Given the description of an element on the screen output the (x, y) to click on. 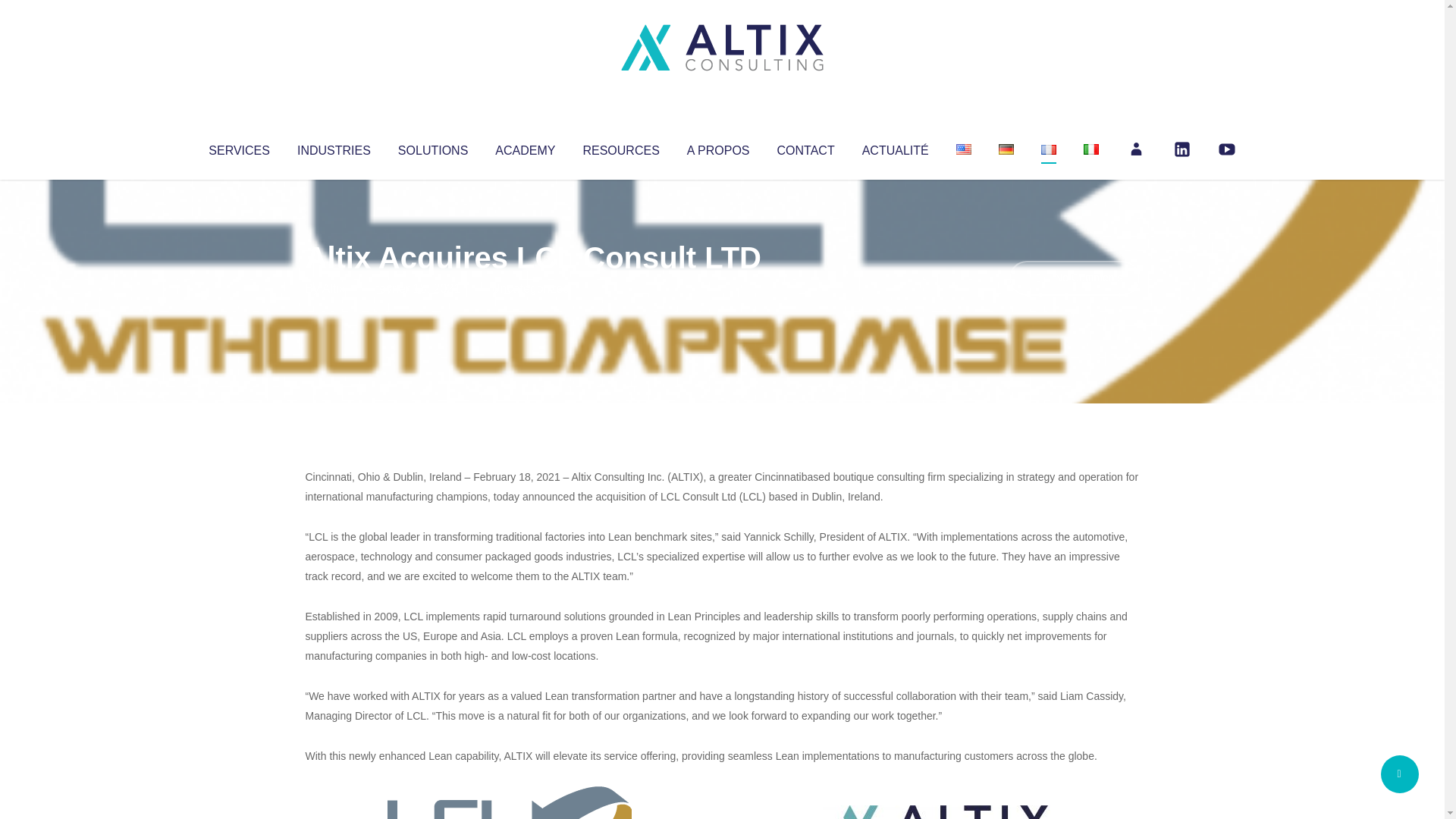
Uncategorized (530, 287)
A PROPOS (718, 146)
SERVICES (238, 146)
Articles par Altix (333, 287)
ACADEMY (524, 146)
Altix (333, 287)
INDUSTRIES (334, 146)
SOLUTIONS (432, 146)
RESOURCES (620, 146)
No Comments (1073, 278)
